Given the description of an element on the screen output the (x, y) to click on. 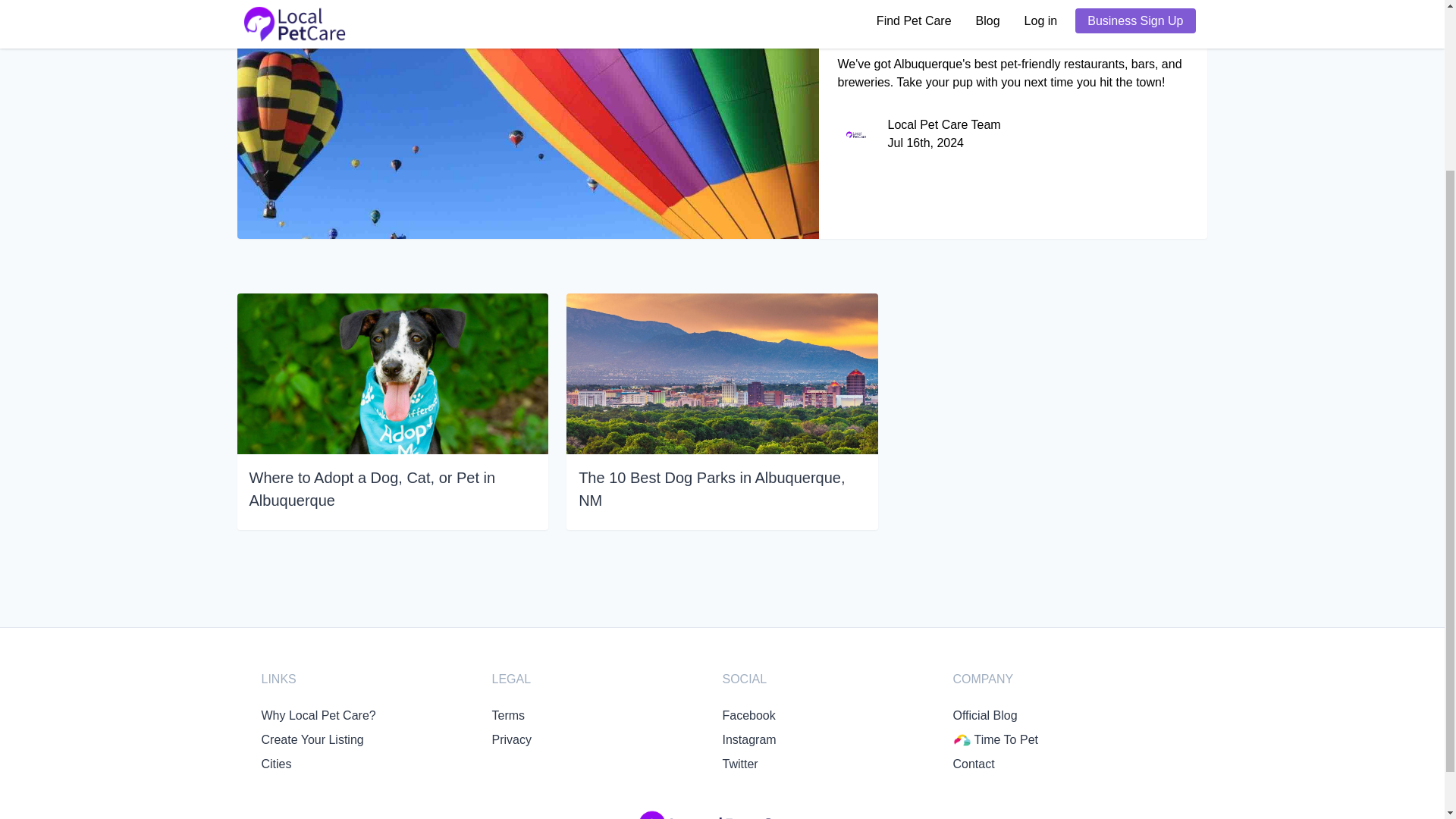
Contact (973, 763)
Cities (275, 763)
Privacy (511, 739)
The 10 Best Dog Parks in Albuquerque, NM (722, 488)
The Top Dog-Friendly Restaurants in Albuquerque (1013, 37)
Official Blog (984, 715)
Time To Pet (1067, 740)
Create Your Listing (311, 739)
Where to Adopt a Dog, Cat, or Pet in Albuquerque (391, 488)
Instagram (749, 739)
Facebook (748, 715)
Twitter (739, 763)
Terms (508, 715)
Why Local Pet Care? (317, 715)
